Given the description of an element on the screen output the (x, y) to click on. 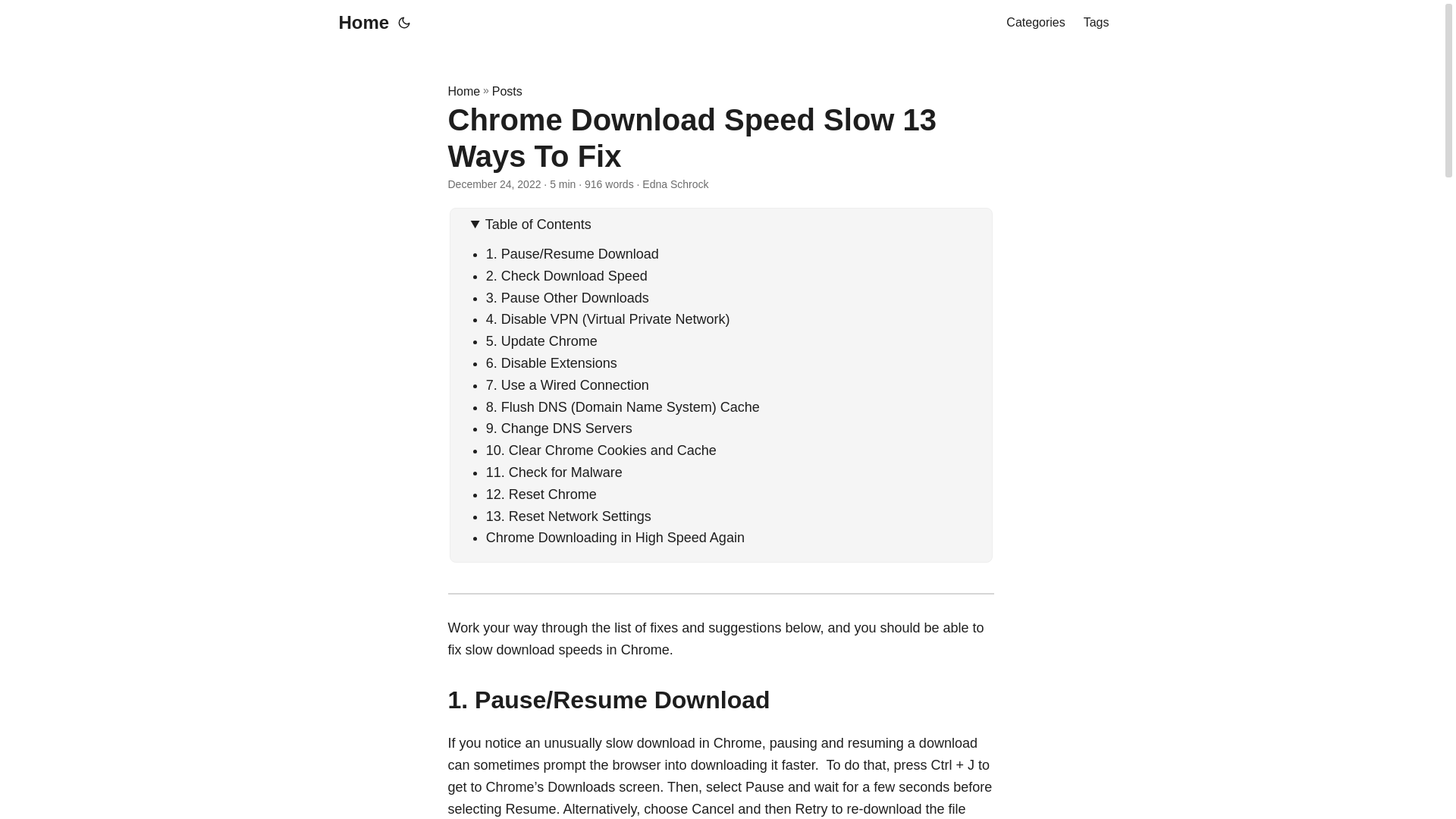
Categories (1035, 22)
3. Pause Other Downloads (567, 297)
7. Use a Wired Connection (567, 385)
Home (463, 91)
12. Reset Chrome (541, 494)
2. Check Download Speed (566, 275)
9. Change DNS Servers (558, 427)
5. Update Chrome (541, 340)
Chrome Downloading in High Speed Again (615, 537)
10. Clear Chrome Cookies and Cache (601, 450)
